Given the description of an element on the screen output the (x, y) to click on. 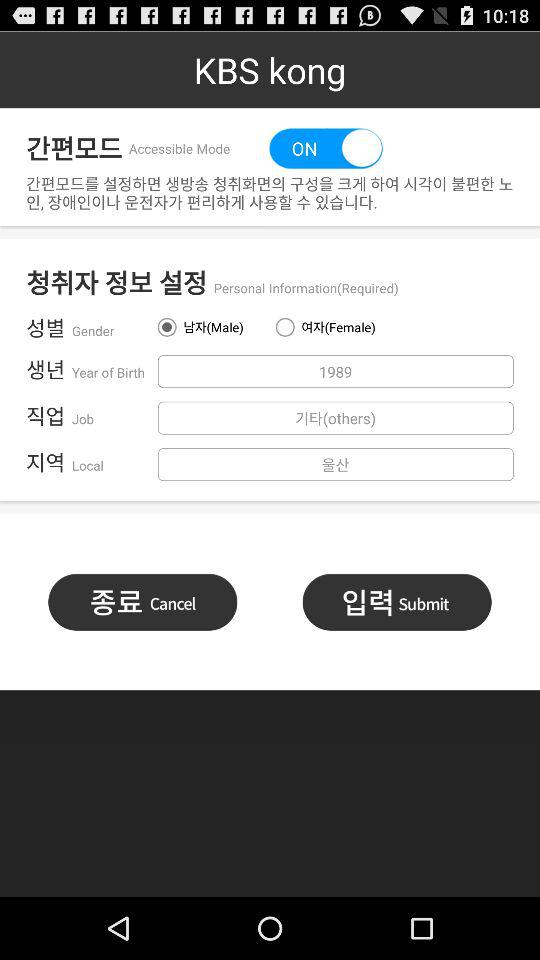
launch item above 1989 item (209, 327)
